Given the description of an element on the screen output the (x, y) to click on. 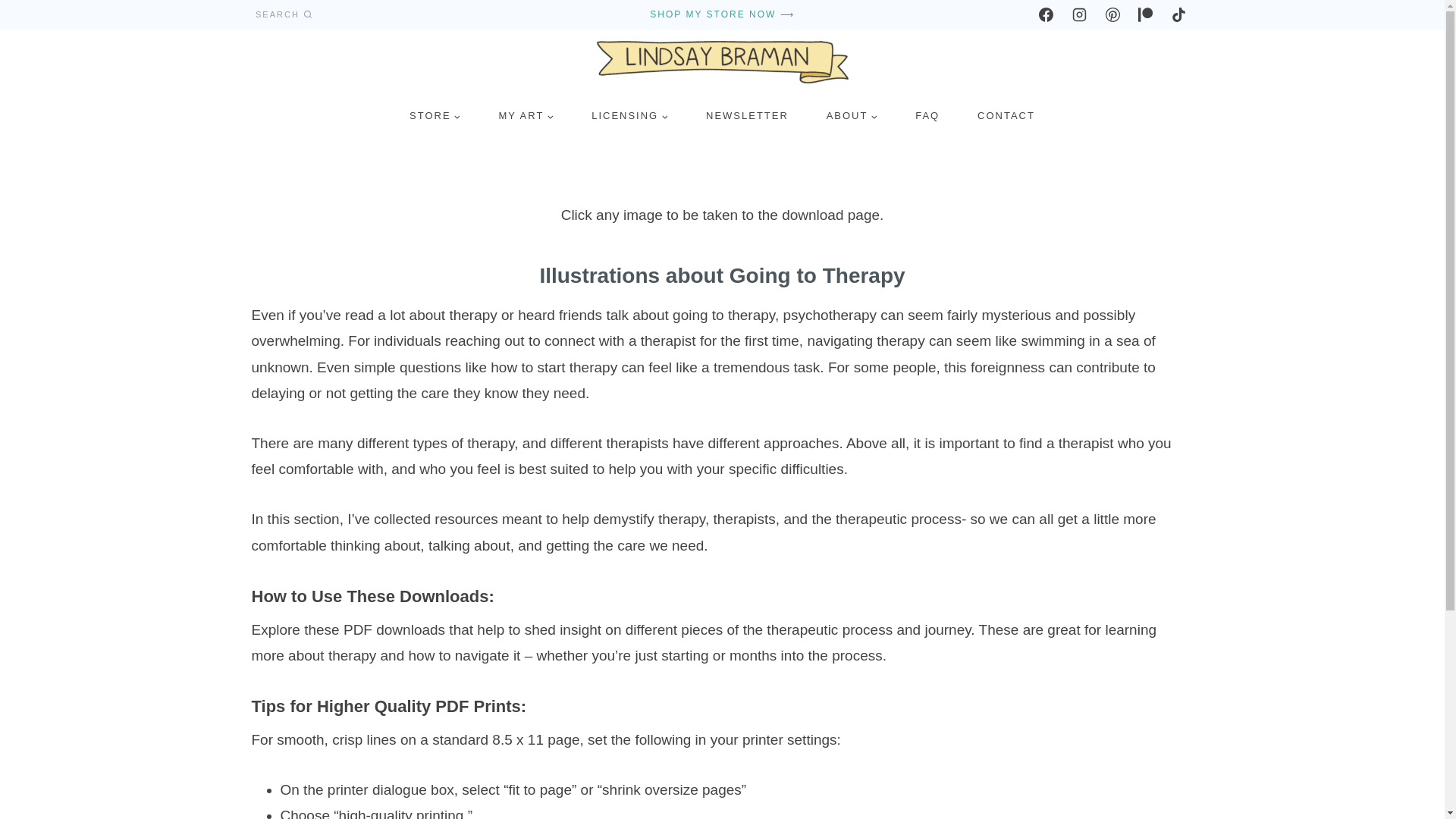
LICENSING (629, 116)
SEARCH (284, 14)
NEWSLETTER (747, 116)
STORE (434, 116)
MY ART (526, 116)
CONTACT (1006, 116)
ABOUT (852, 116)
FAQ (927, 116)
